Given the description of an element on the screen output the (x, y) to click on. 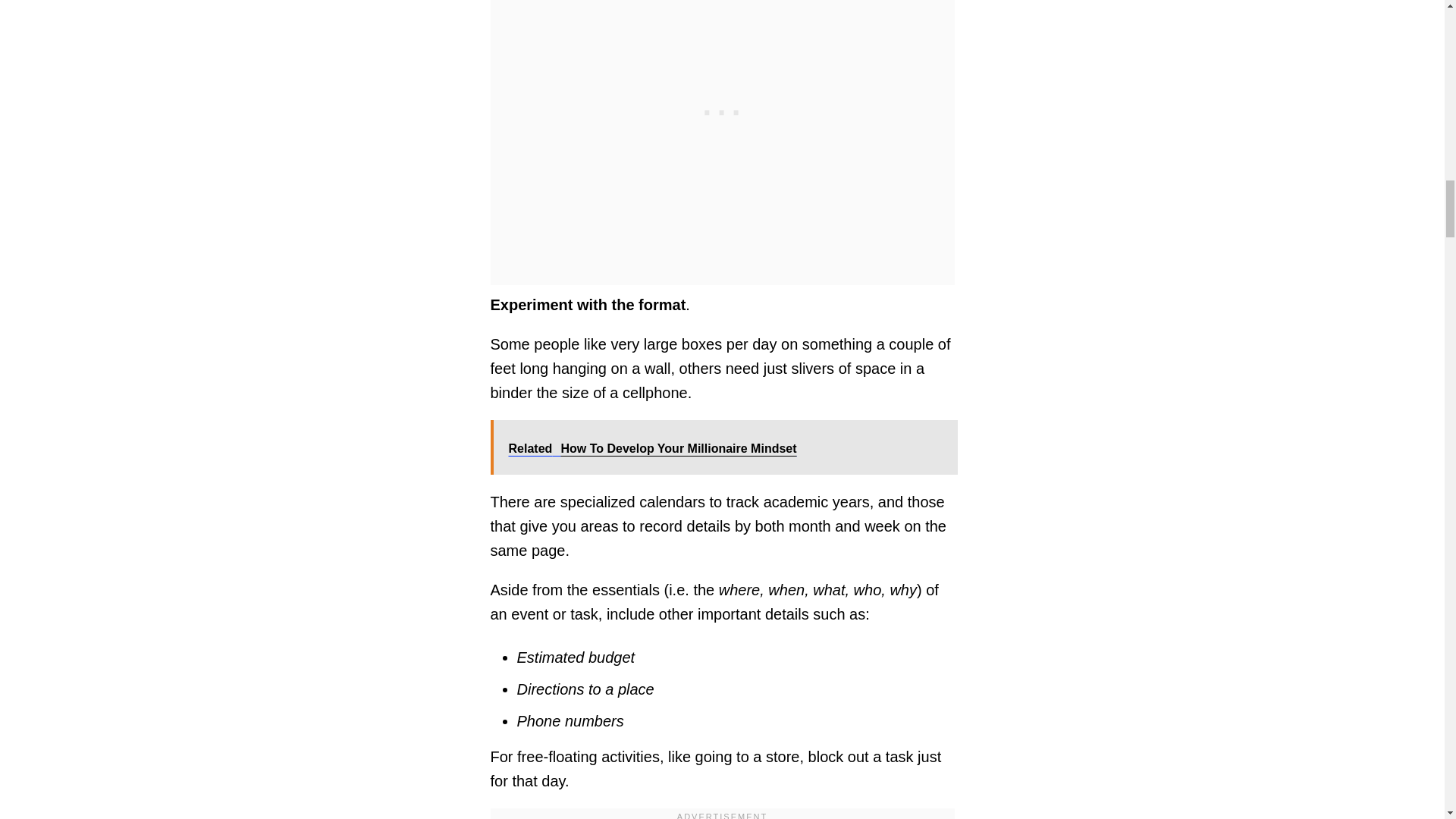
Related  How To Develop Your Millionaire Mindset (722, 447)
